Given the description of an element on the screen output the (x, y) to click on. 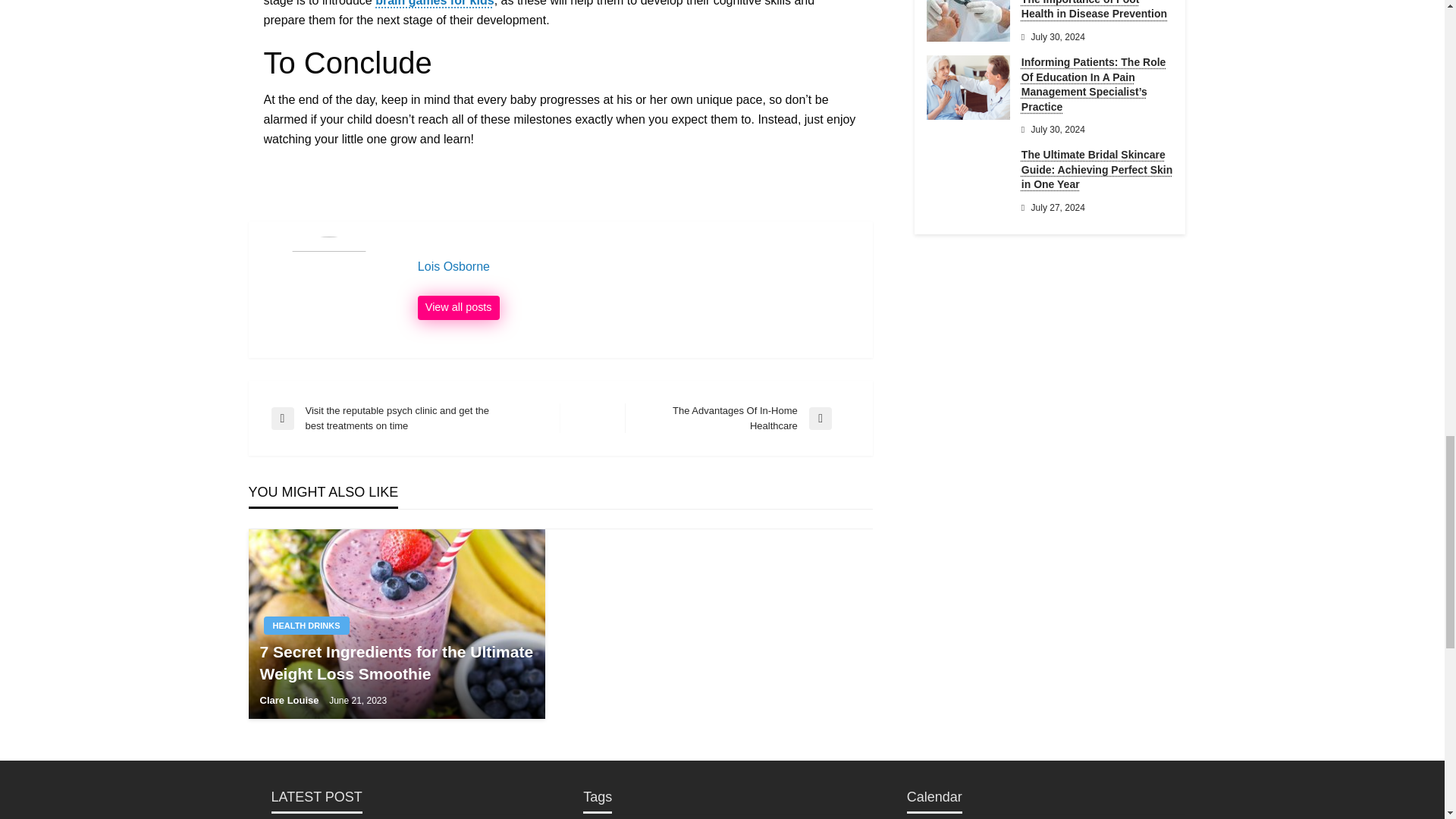
brain games for kids (435, 3)
View all posts (458, 307)
Lois Osborne (637, 266)
Lois Osborne (737, 418)
HEALTH DRINKS (637, 266)
Clare Louise (306, 625)
Lois Osborne (290, 699)
7 Secret Ingredients for the Ultimate Weight Loss Smoothie (458, 307)
